Given the description of an element on the screen output the (x, y) to click on. 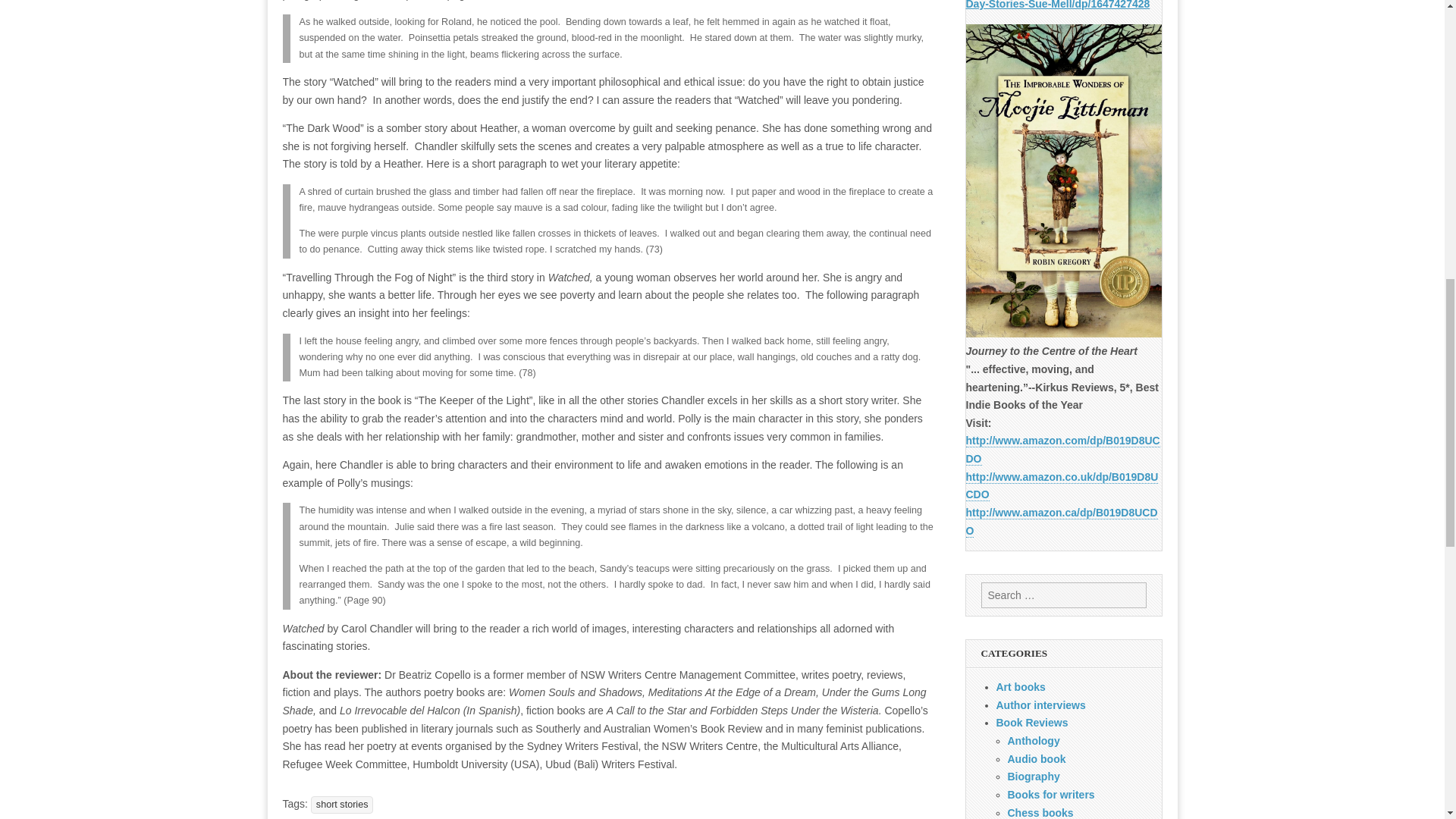
short stories (342, 805)
Anthology (1033, 740)
Author interviews (1040, 705)
Audio book (1036, 758)
Books for writers (1050, 794)
Art books (1020, 686)
Book Reviews (1031, 722)
Chess books (1040, 812)
Biography (1033, 776)
